Given the description of an element on the screen output the (x, y) to click on. 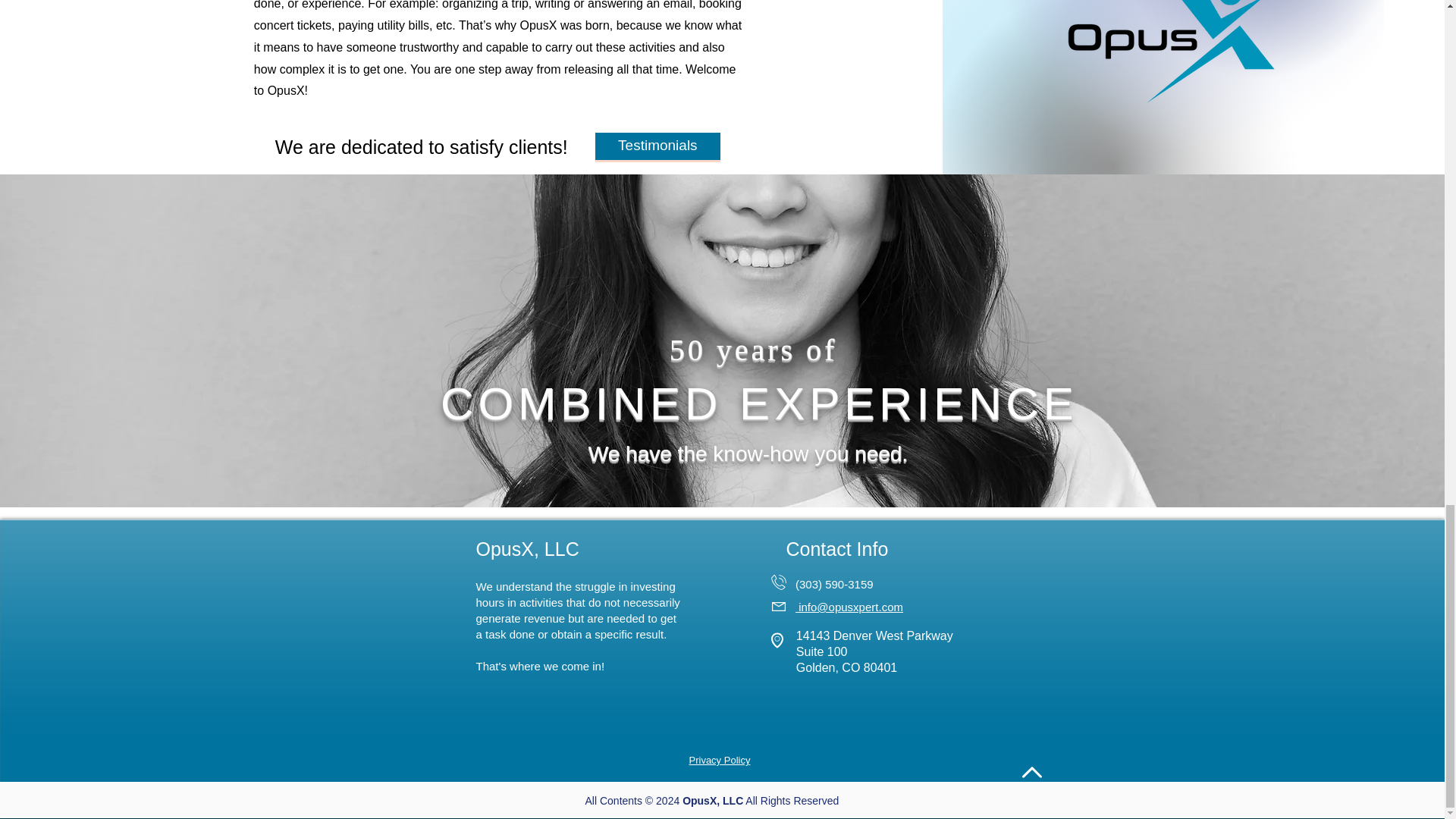
Testimonials (657, 145)
Logo.png (1158, 52)
Privacy Policy (718, 759)
